Given the description of an element on the screen output the (x, y) to click on. 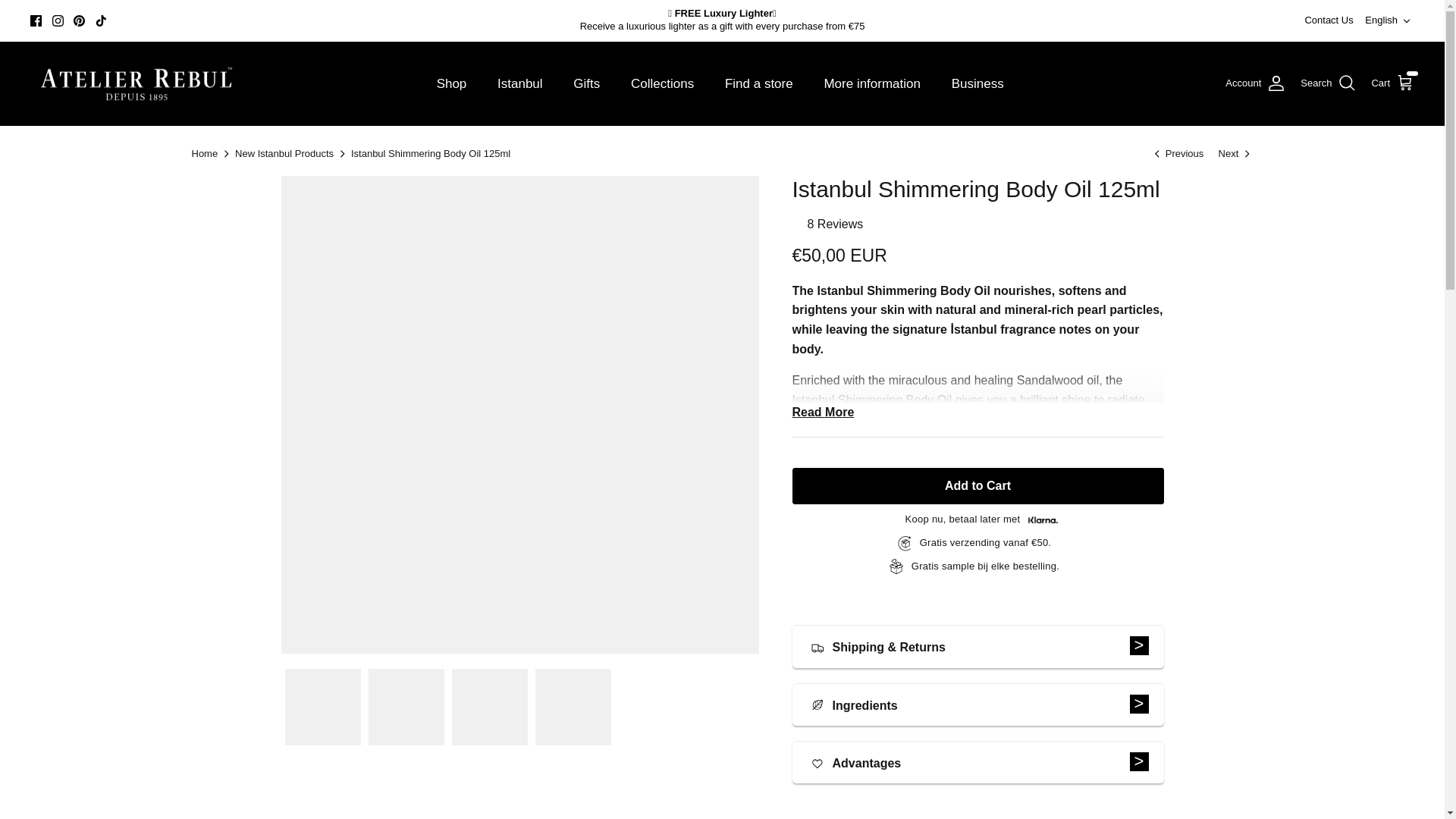
Account (1255, 83)
Find a store (758, 83)
Business (977, 83)
Facebook (36, 20)
Cart (1392, 83)
Shop (451, 83)
More information (871, 83)
Istanbul Extrait de Parfum 125ml (1235, 153)
Search (1327, 83)
Collections (662, 83)
